Given the description of an element on the screen output the (x, y) to click on. 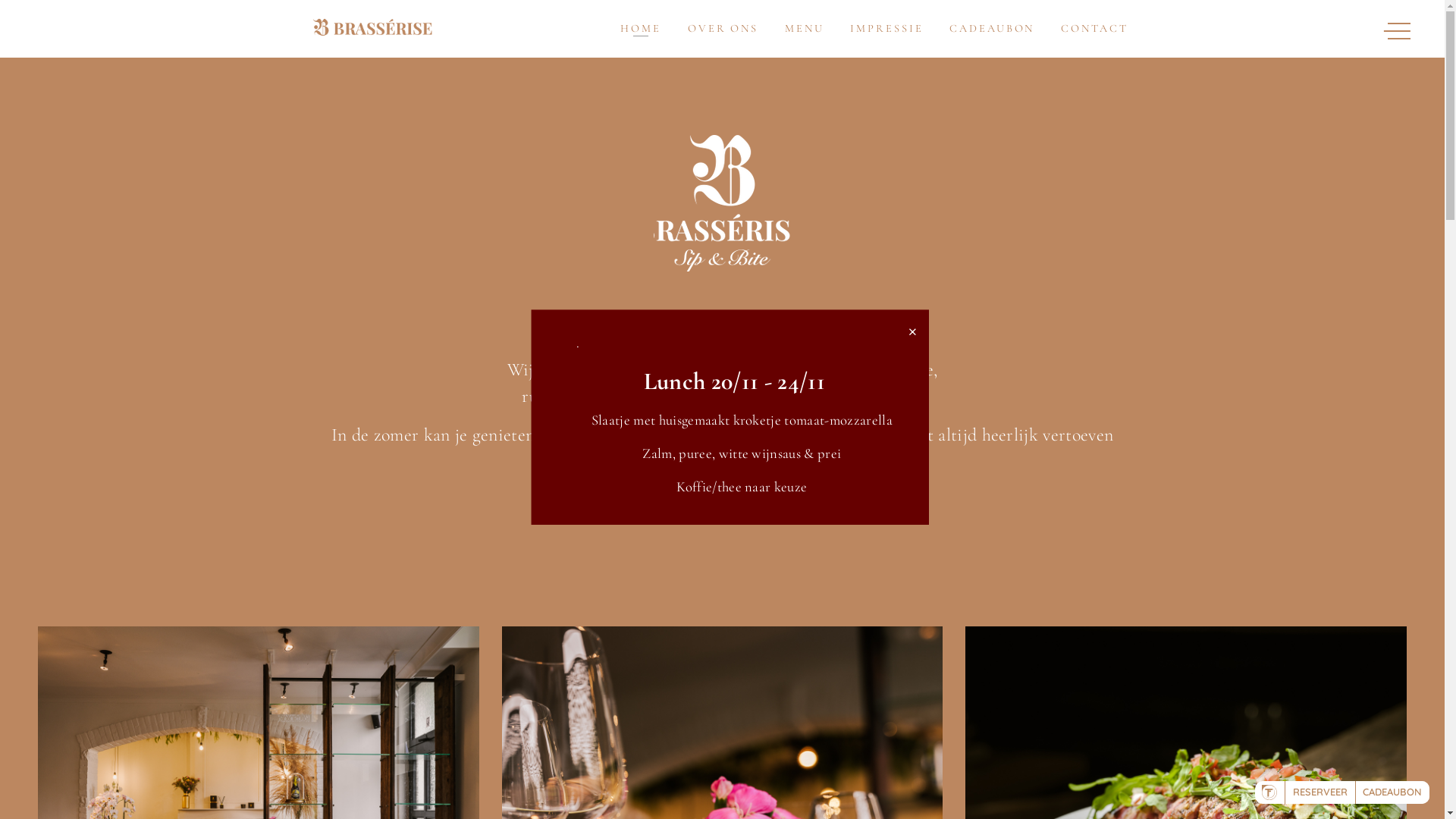
OVER ONS Element type: text (722, 28)
CONTACT Element type: text (1093, 28)
CADEAUBON Element type: text (991, 28)
IMPRESSIE Element type: text (886, 28)
MENU Element type: text (804, 28)
HOME Element type: text (640, 28)
